Given the description of an element on the screen output the (x, y) to click on. 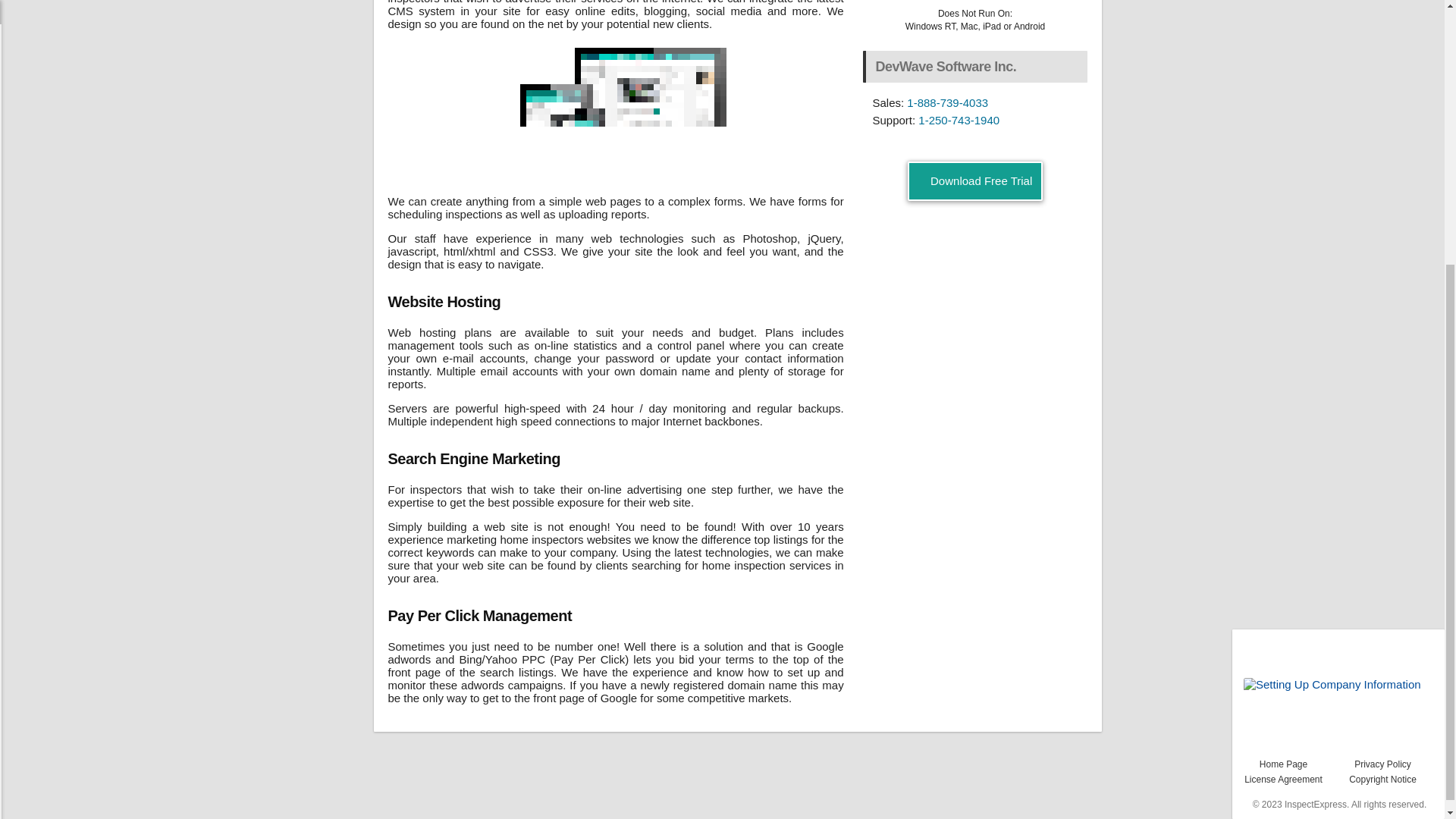
1-888-739-4033 (947, 102)
  Download Free Trial (975, 180)
Download a Free Trial (975, 180)
1-250-743-1940 (958, 119)
